Given the description of an element on the screen output the (x, y) to click on. 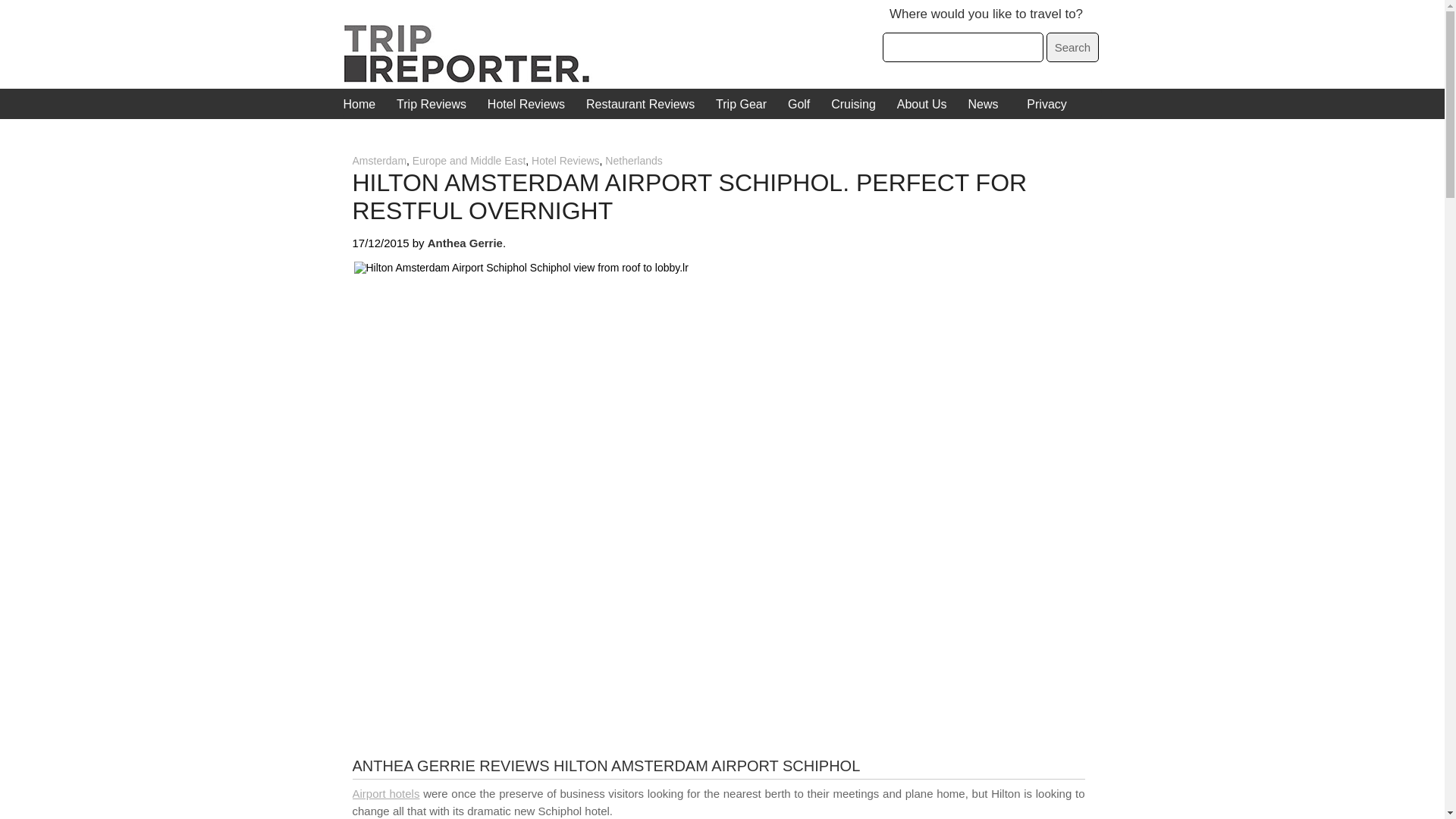
trip reporter (470, 78)
Search (1072, 47)
Airport hotels (385, 793)
Home (358, 104)
Search (1072, 47)
Hotel Reviews (525, 104)
Cruising (853, 104)
Netherlands (633, 160)
Golf (798, 104)
Privacy (1045, 104)
